Given the description of an element on the screen output the (x, y) to click on. 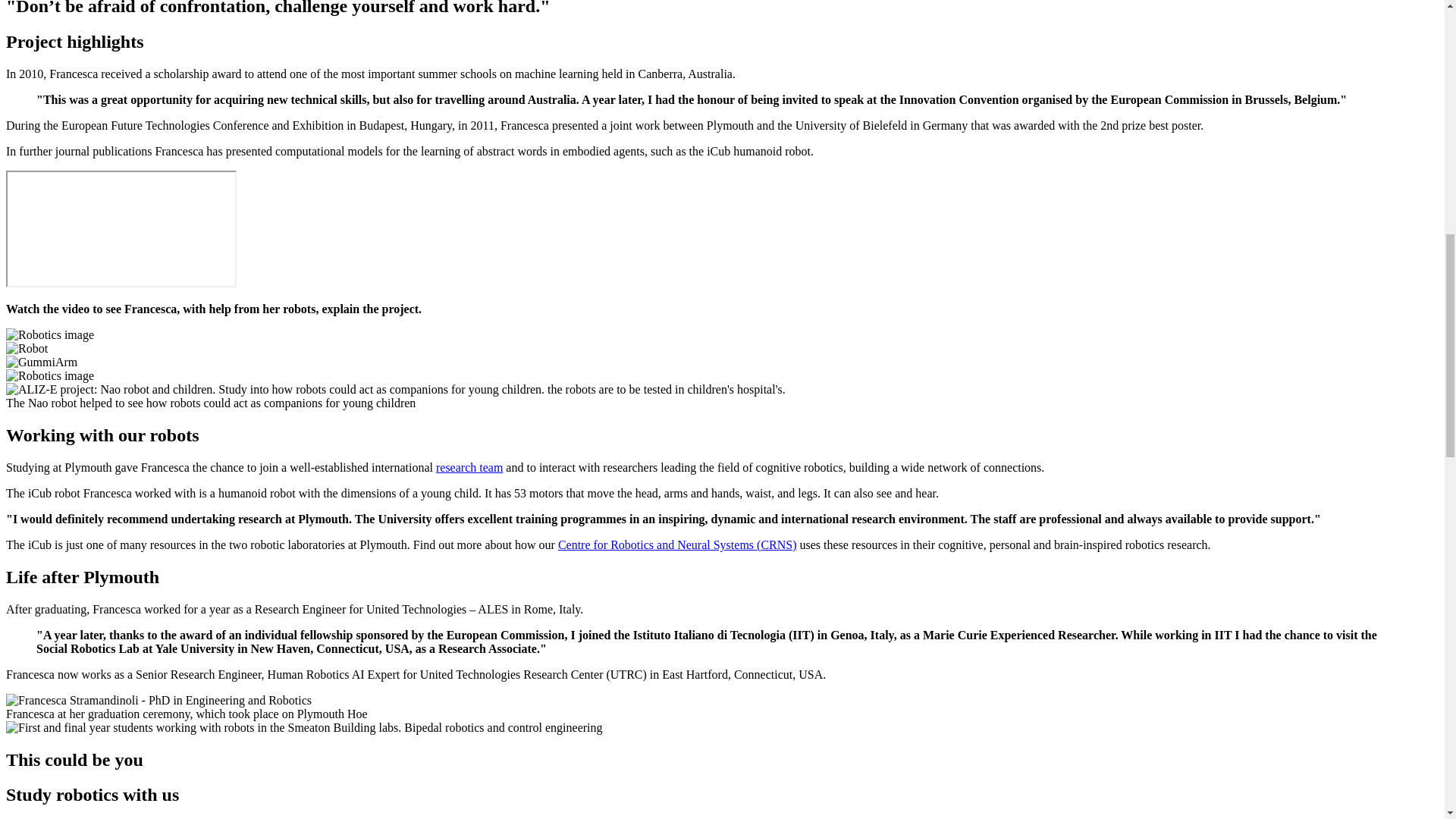
YouTube PWAnIAjeDGk (120, 228)
